Given the description of an element on the screen output the (x, y) to click on. 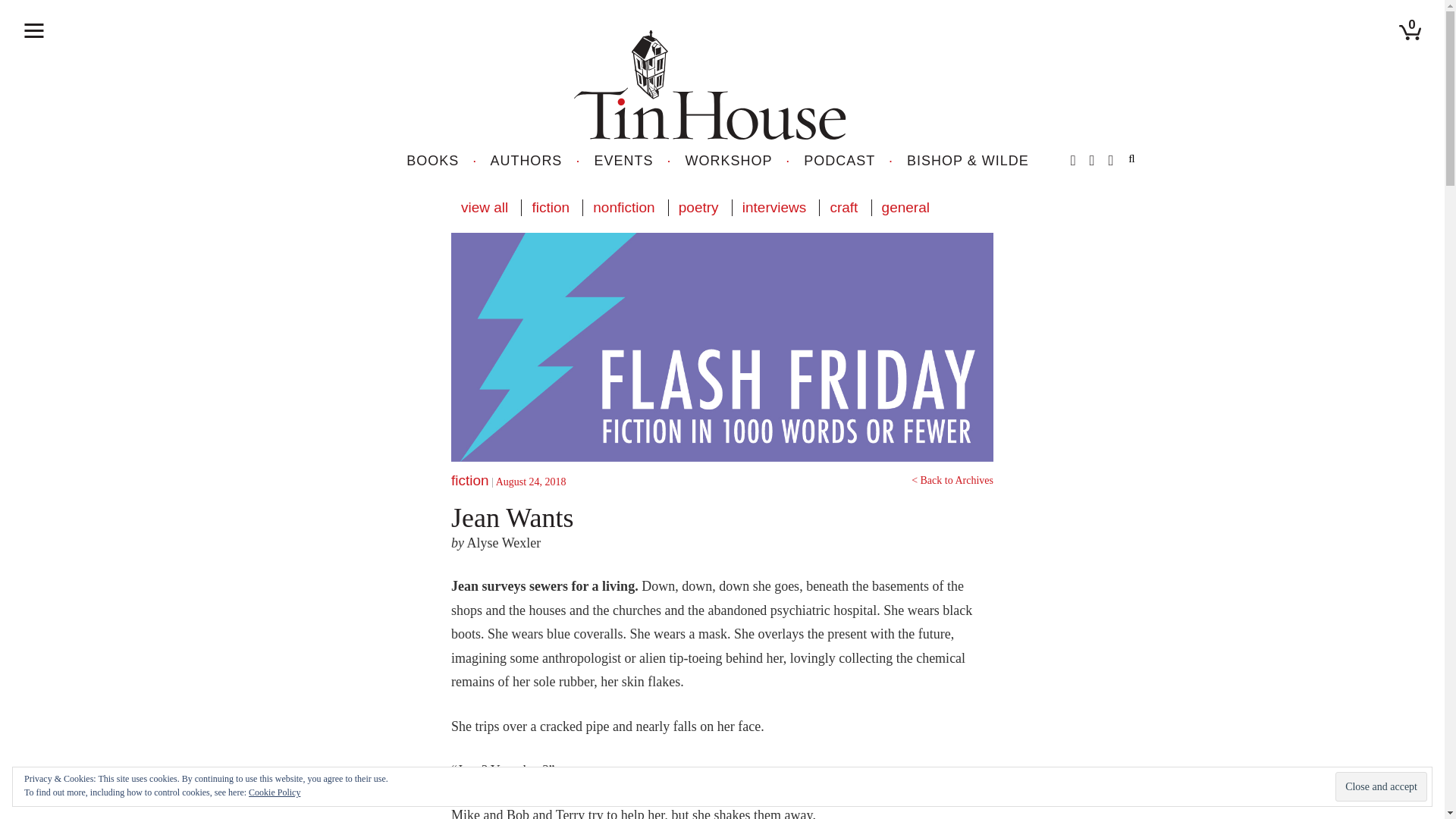
general (905, 207)
nonfiction (623, 207)
created with sketch. (33, 30)
interviews (773, 207)
AUTHORS (525, 160)
WORKSHOP (729, 160)
BOOKS (432, 160)
Created with Sketch. (716, 83)
created with sketch. (34, 30)
Created with Sketch. (709, 85)
